Given the description of an element on the screen output the (x, y) to click on. 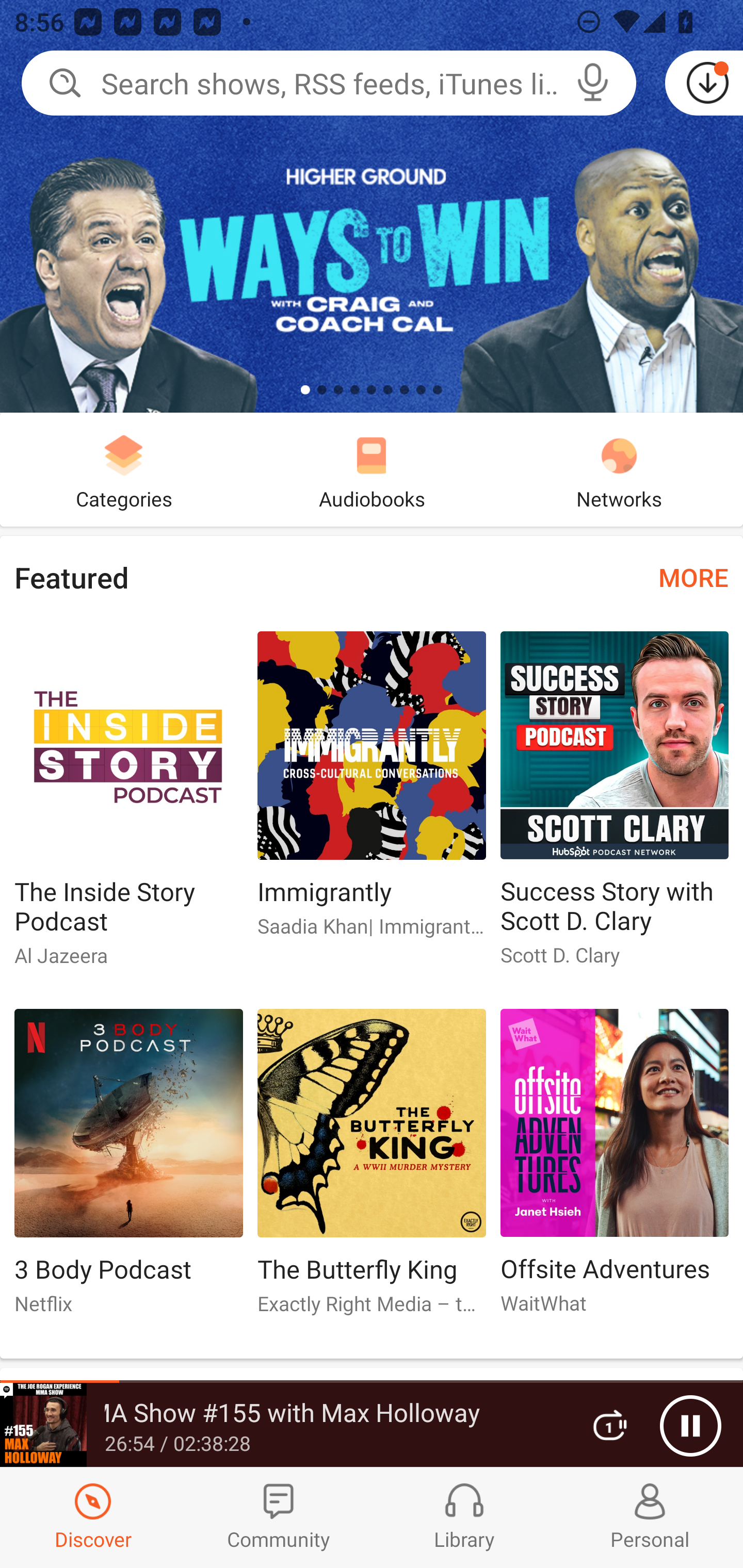
Ways To Win (371, 206)
Categories (123, 469)
Audiobooks (371, 469)
Networks (619, 469)
MORE (693, 576)
3 Body Podcast 3 Body Podcast Netflix (128, 1169)
Offsite Adventures Offsite Adventures WaitWhat (614, 1169)
Pause (690, 1425)
Discover (92, 1517)
Community (278, 1517)
Library (464, 1517)
Profiles and Settings Personal (650, 1517)
